Given the description of an element on the screen output the (x, y) to click on. 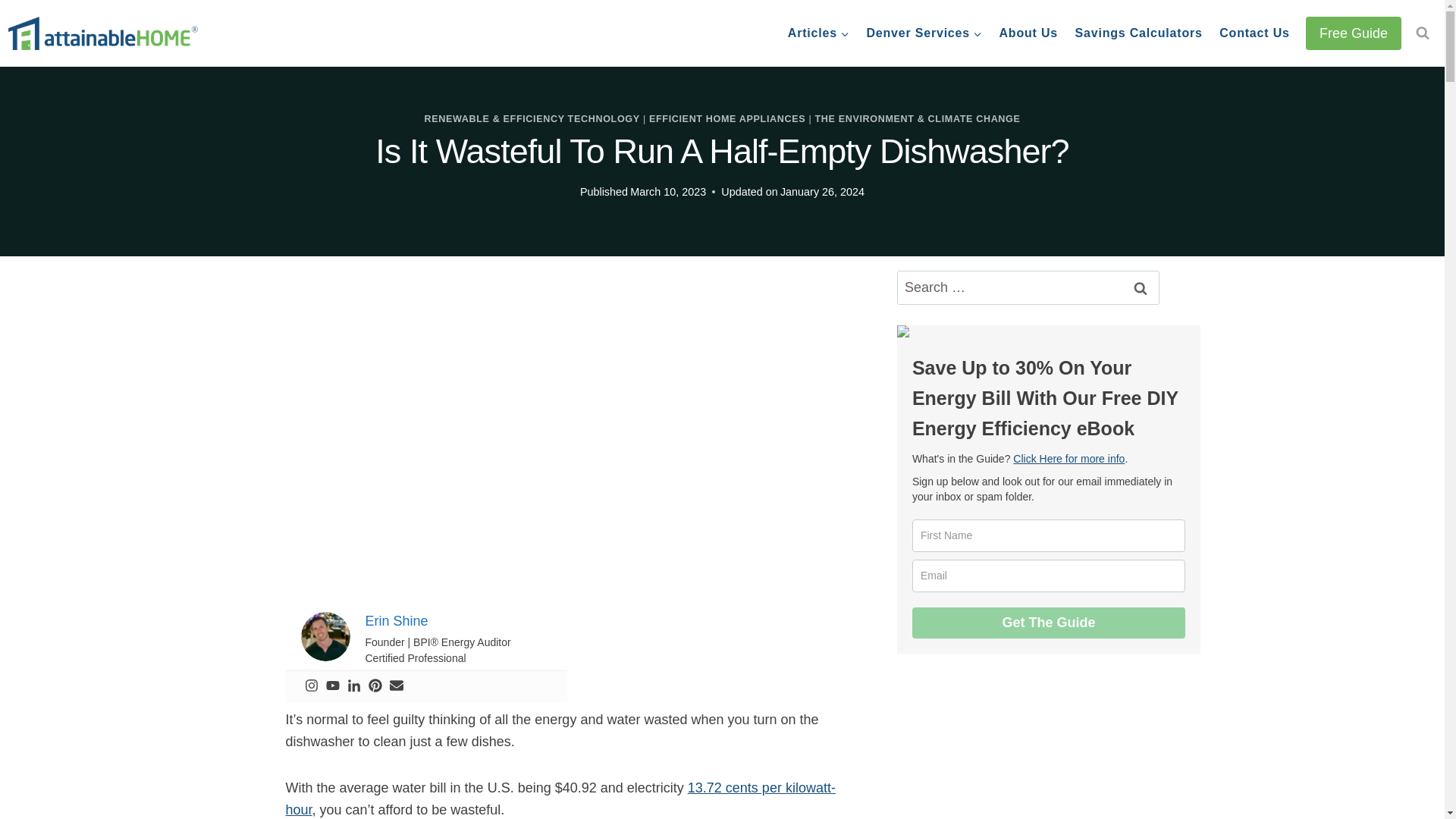
Search (1139, 287)
Articles (818, 33)
Search (1139, 287)
